Given the description of an element on the screen output the (x, y) to click on. 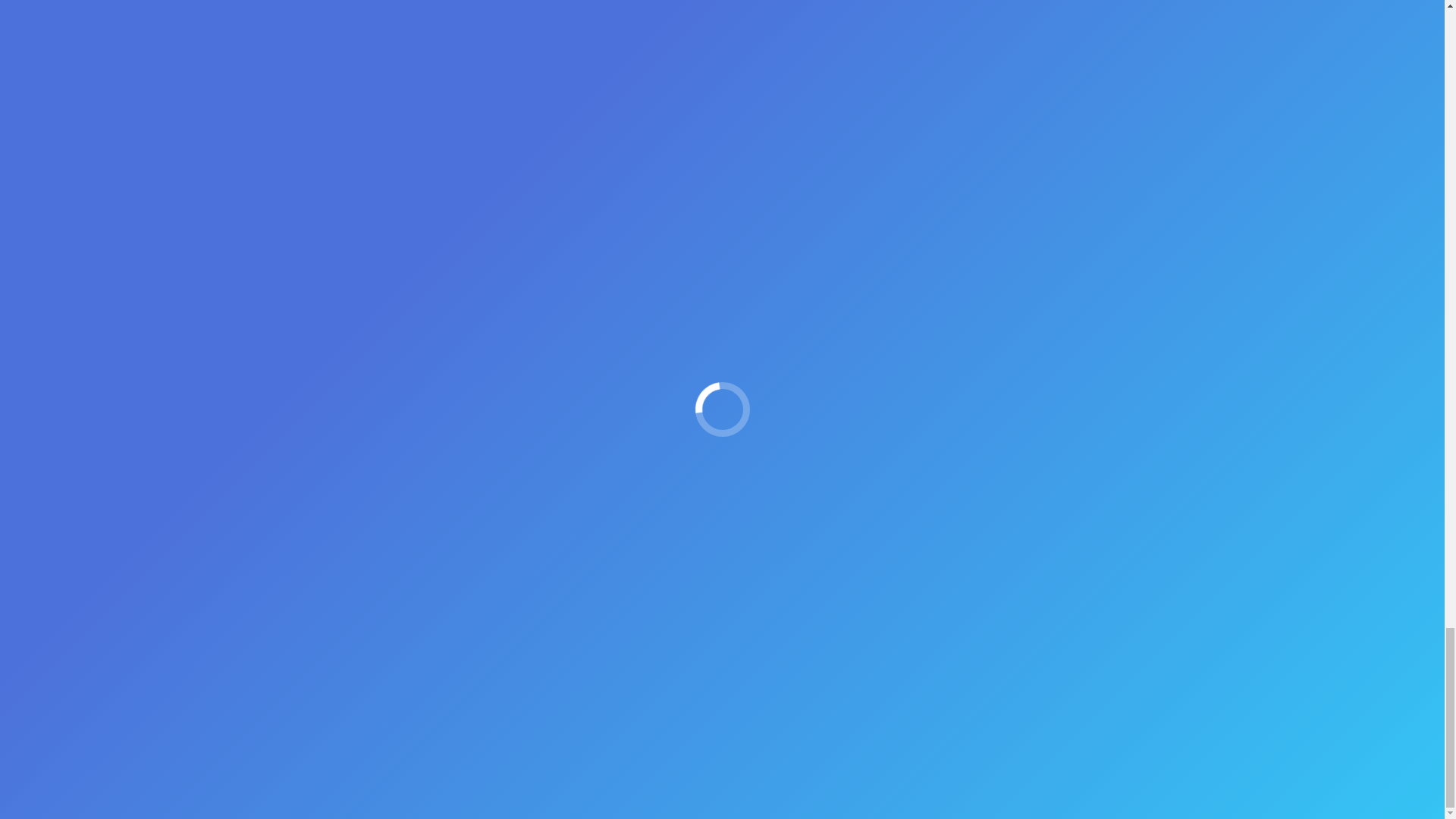
Mail page opens in new window (305, 624)
X page opens in new window (282, 624)
Facebook page opens in new window (259, 624)
